Given the description of an element on the screen output the (x, y) to click on. 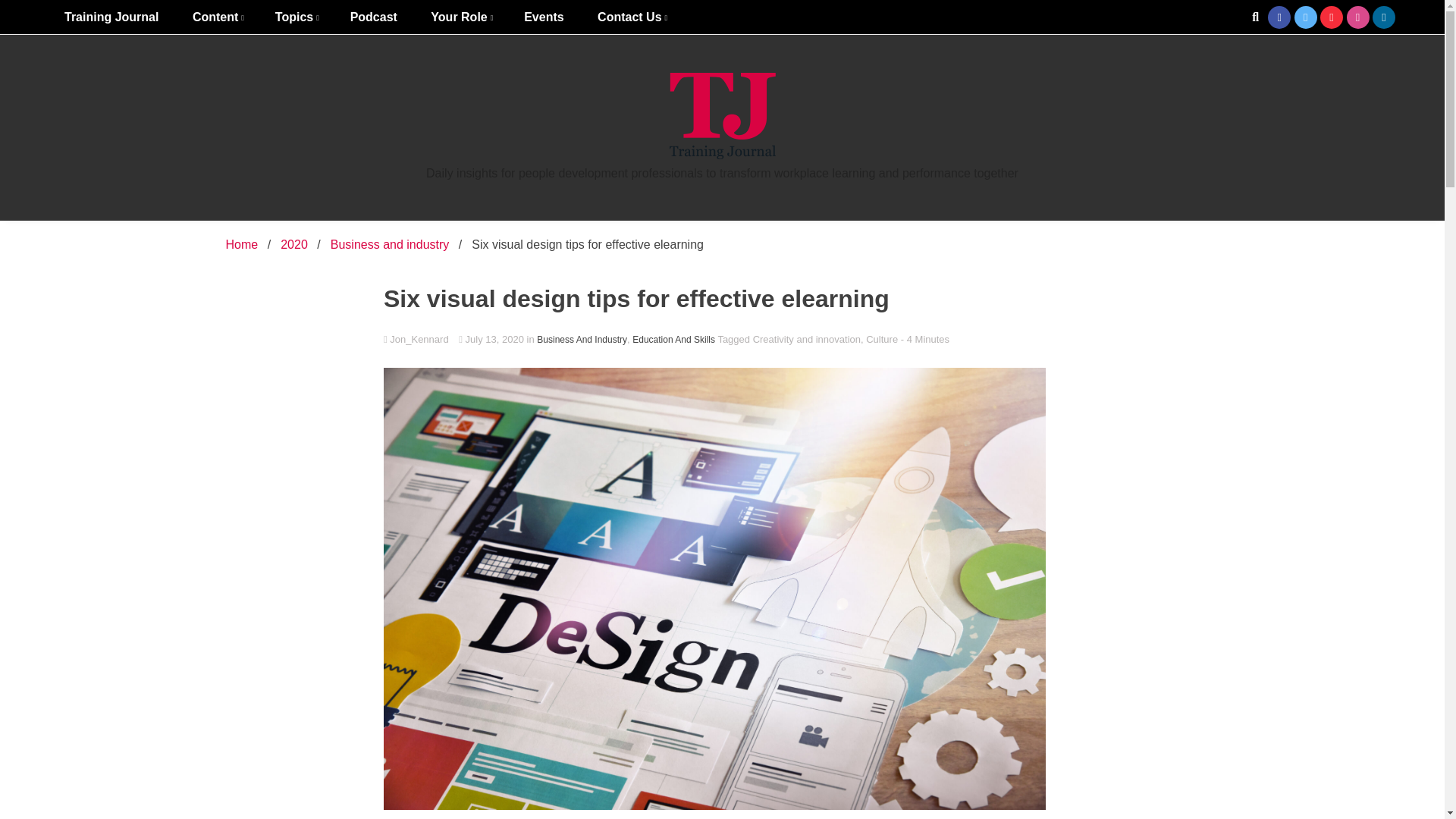
Your Role (459, 17)
Topics (295, 17)
Training Journal (111, 17)
Content (216, 17)
Events (543, 17)
Podcast (373, 17)
Estimated Reading Time of Article (925, 338)
